Given the description of an element on the screen output the (x, y) to click on. 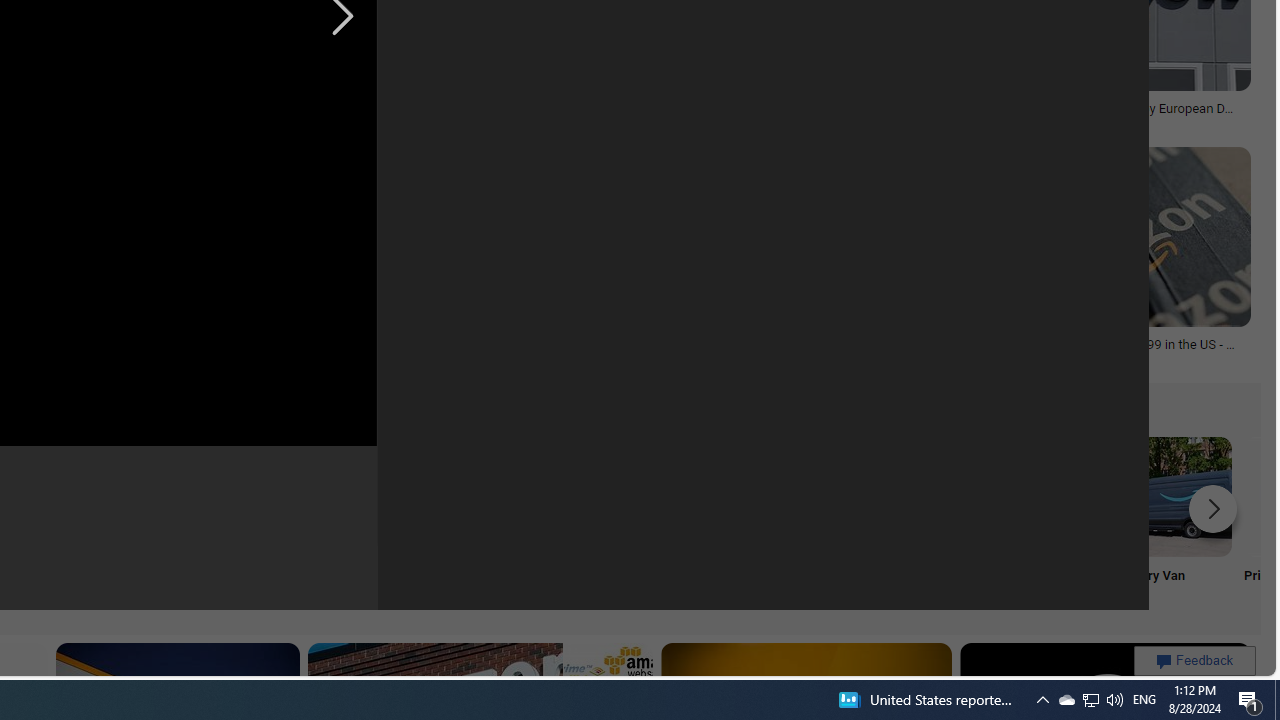
Amazon App Store Download App Store Download (1039, 521)
theverge.com (994, 358)
Amazon Delivery Van Delivery Van (1171, 521)
PC World (237, 121)
Visa Card Login (643, 521)
Amazon Prime Shopping Online (380, 496)
Amazon Sale Items (775, 496)
